Given the description of an element on the screen output the (x, y) to click on. 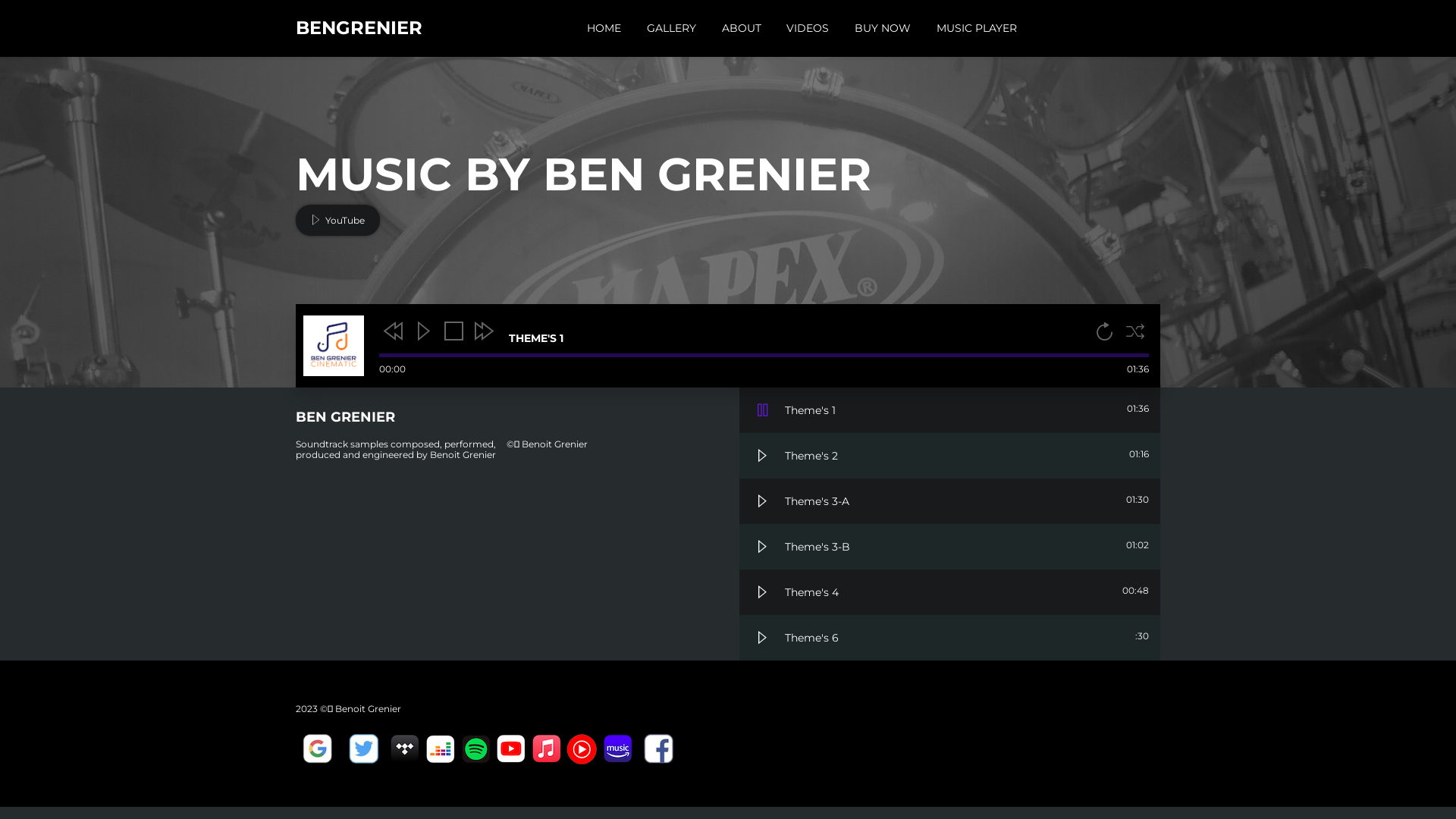
HOME Element type: text (603, 27)
BENGRENIER Element type: text (358, 30)
Theme's 3-A
01:30 Element type: text (949, 501)
Theme's 1
01:36 Element type: text (949, 410)
Theme's 3-B
01:02 Element type: text (949, 546)
Theme's 4
00:48 Element type: text (949, 592)
GALLERY Element type: text (671, 27)
Theme's 6
:30 Element type: text (949, 637)
ABOUT Element type: text (741, 27)
BUY NOW Element type: text (882, 27)
Theme's 2
01:16 Element type: text (949, 455)
MUSIC PLAYER Element type: text (976, 27)
VIDEOS Element type: text (807, 27)
YouTube Element type: text (337, 219)
